Given the description of an element on the screen output the (x, y) to click on. 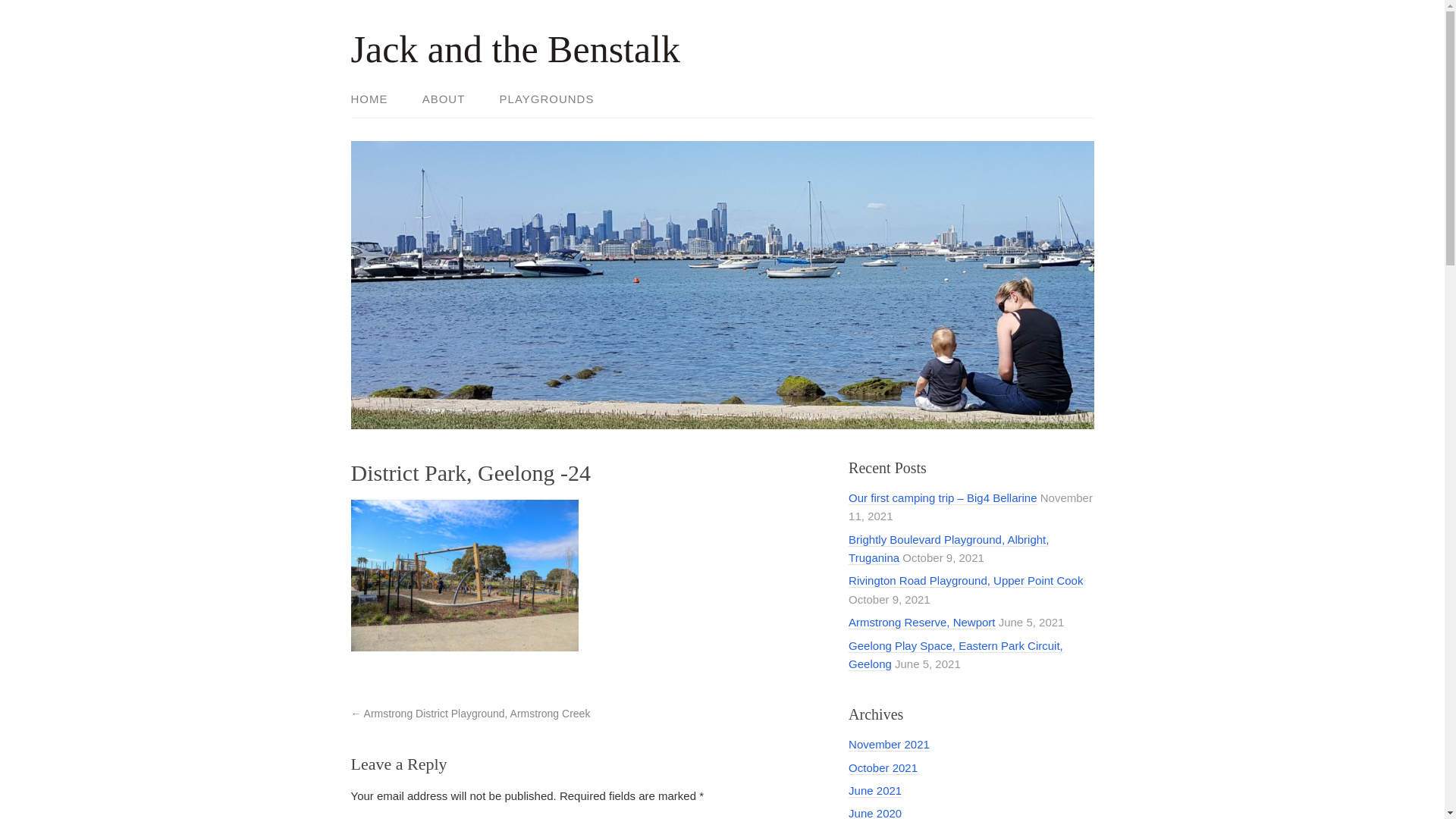
Armstrong Reserve, Newport Element type: text (921, 622)
Rivington Road Playground, Upper Point Cook Element type: text (965, 580)
Jack and the Benstalk Element type: text (515, 49)
ABOUT Element type: text (443, 99)
October 2021 Element type: text (882, 768)
June 2021 Element type: text (874, 790)
PLAYGROUNDS Element type: text (539, 99)
Brightly Boulevard Playground, Albright, Truganina Element type: text (948, 548)
November 2021 Element type: text (888, 744)
Geelong Play Space, Eastern Park Circuit, Geelong Element type: text (955, 654)
HOME Element type: text (376, 99)
